Given the description of an element on the screen output the (x, y) to click on. 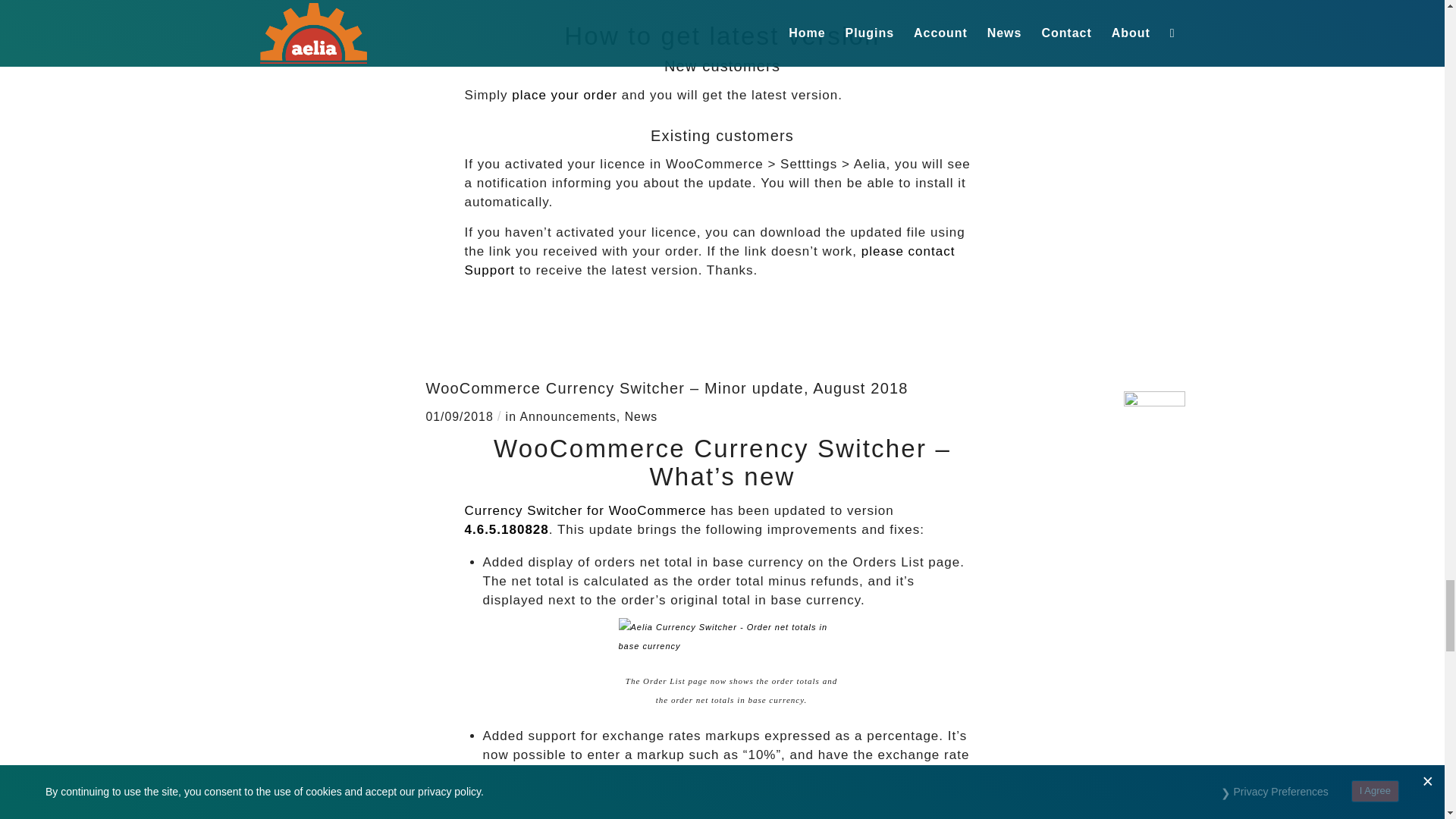
Currency Switcher for WooCommerce (564, 94)
Create a support request (709, 260)
